Given the description of an element on the screen output the (x, y) to click on. 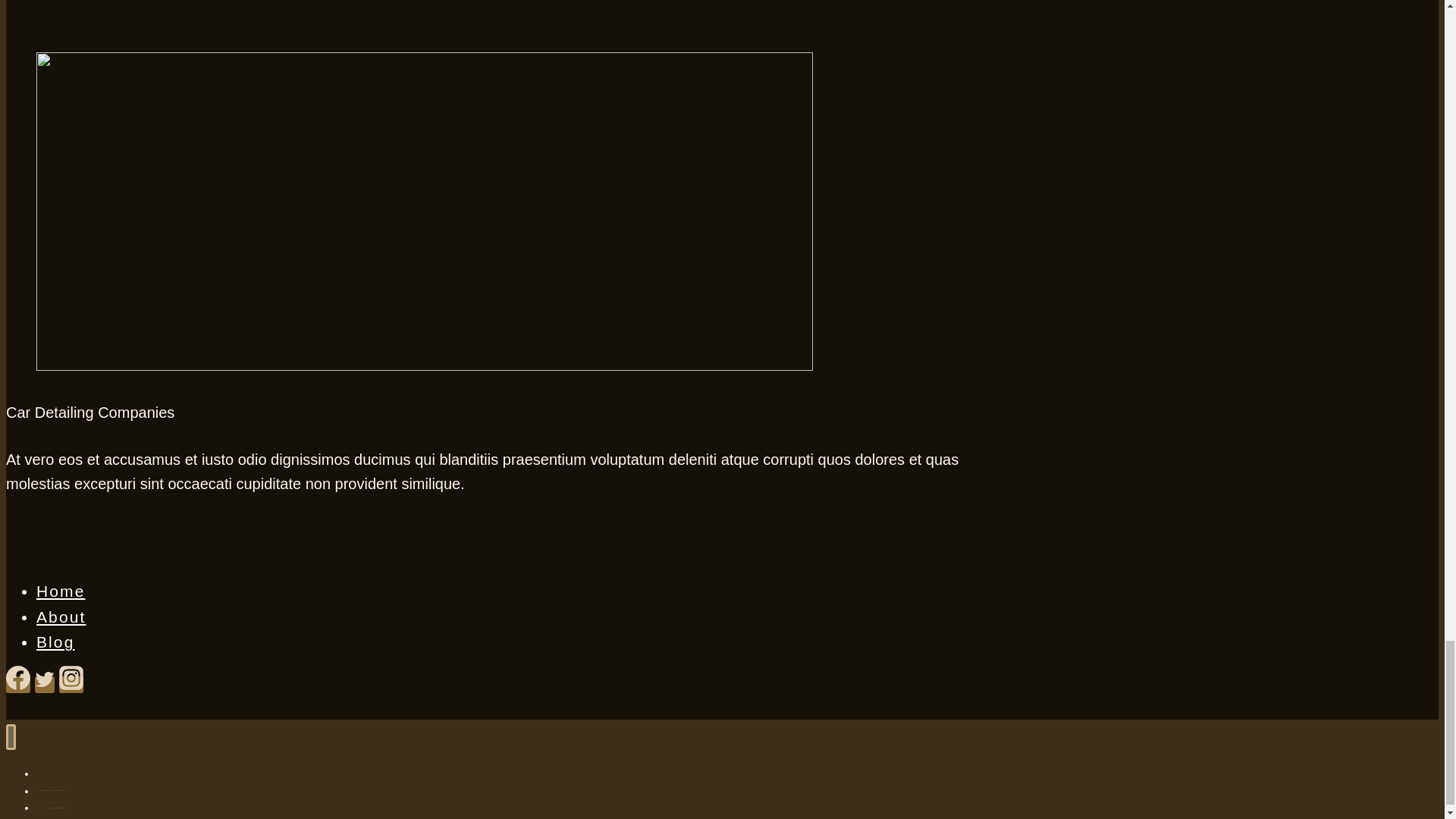
About (60, 616)
Twitter (44, 684)
Instagram (70, 684)
Facebook (17, 677)
Twitter (44, 679)
Facebook (17, 684)
Home (60, 590)
Instagram (70, 677)
Blog (55, 641)
